Given the description of an element on the screen output the (x, y) to click on. 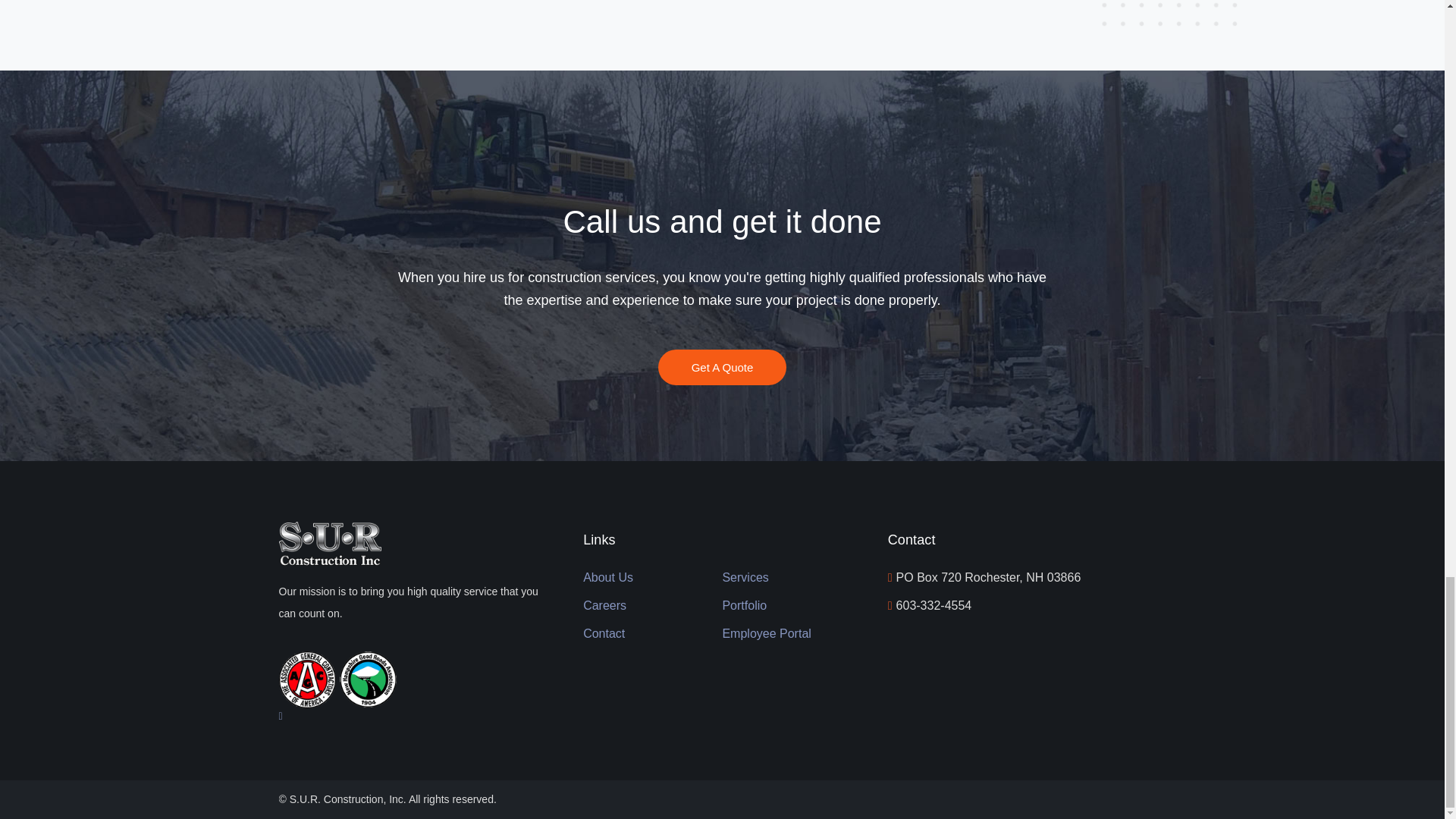
Employee Portal (766, 634)
About Us (608, 578)
Get A Quote (722, 366)
Services (745, 578)
Careers (604, 606)
Portfolio (744, 606)
Contact (603, 634)
